Given the description of an element on the screen output the (x, y) to click on. 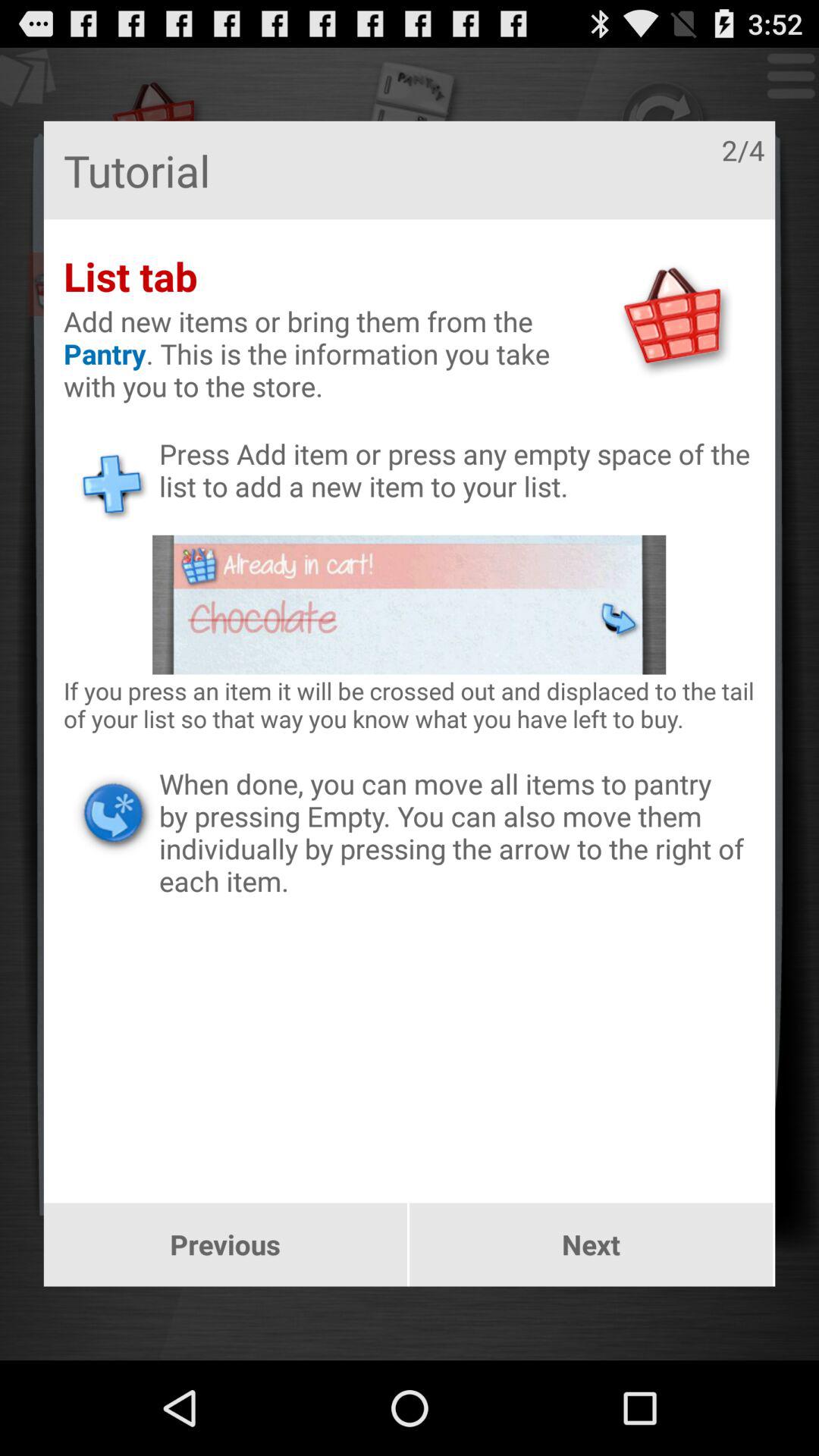
click previous (225, 1244)
